Given the description of an element on the screen output the (x, y) to click on. 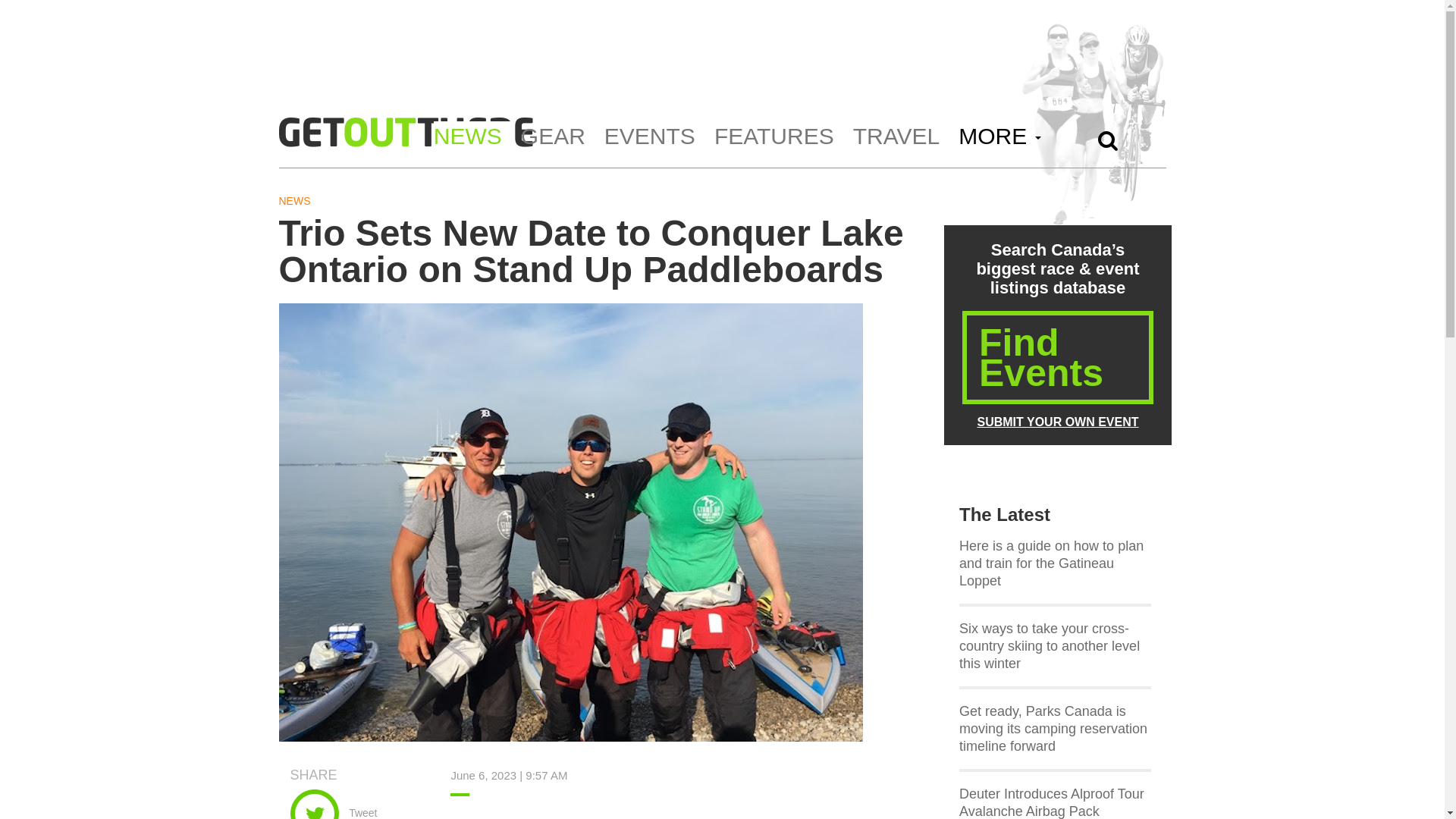
NEWS (473, 138)
TRAVEL (901, 138)
Find Events (1057, 357)
FEATURES (779, 138)
MORE (1004, 138)
Find Events (1057, 381)
SUBMIT YOUR OWN EVENT (1057, 421)
GEAR (558, 138)
